Given the description of an element on the screen output the (x, y) to click on. 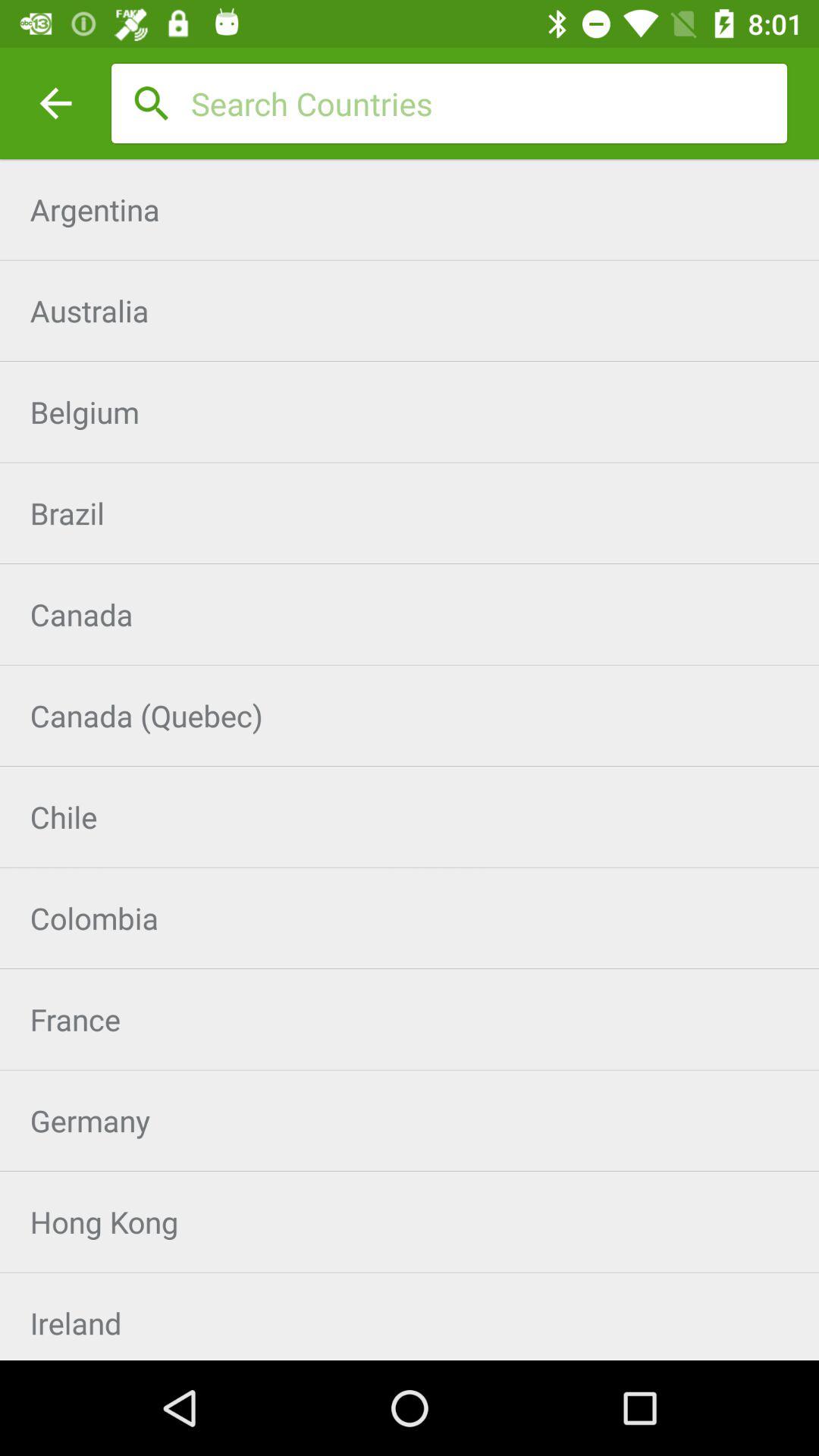
turn on the brazil item (409, 512)
